Given the description of an element on the screen output the (x, y) to click on. 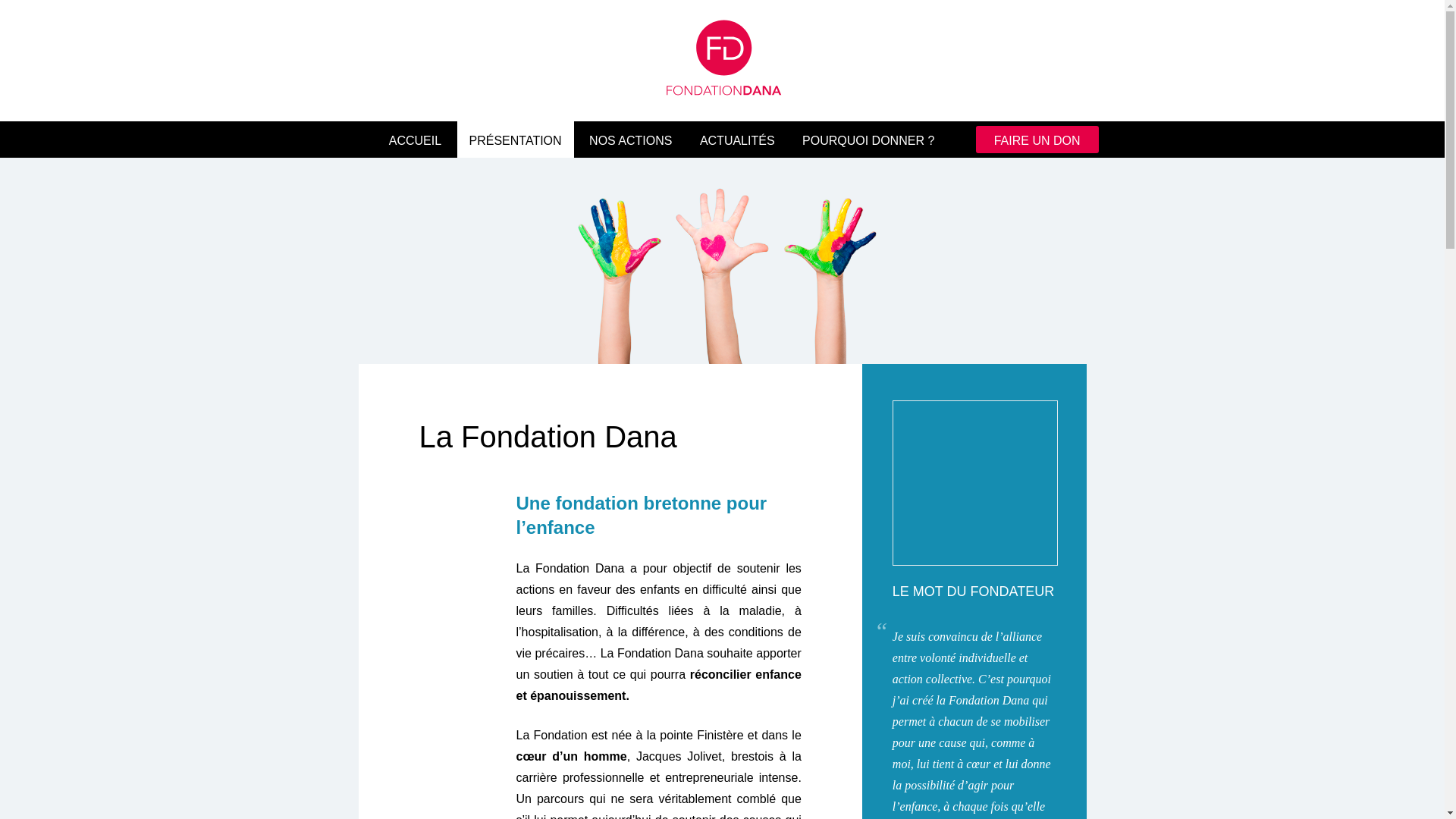
POURQUOI DONNER ? Element type: text (868, 140)
ACCUEIL Element type: text (414, 140)
FAIRE UN DON Element type: text (1036, 139)
NOS ACTIONS Element type: text (630, 140)
